Given the description of an element on the screen output the (x, y) to click on. 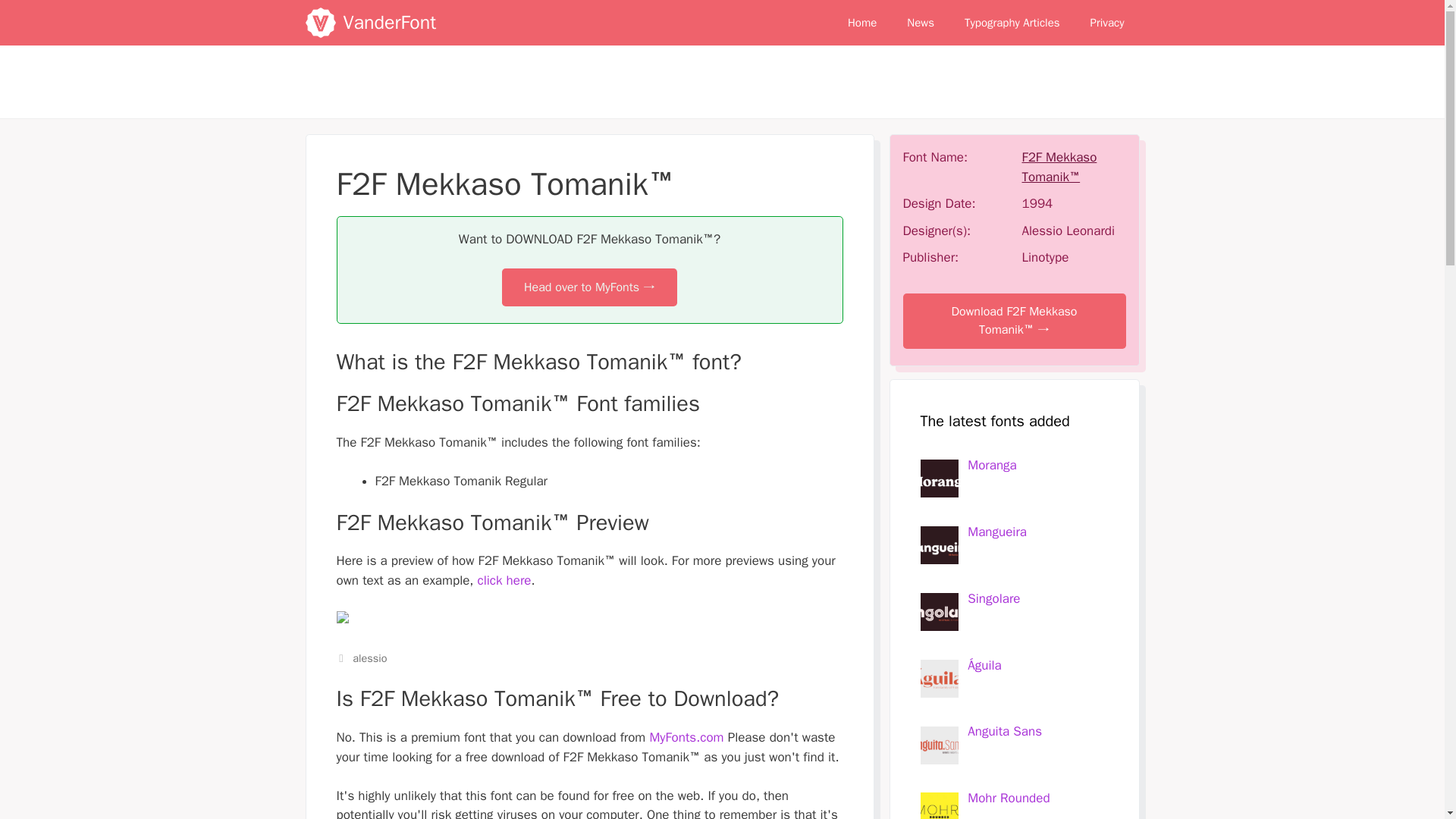
Singolare (994, 598)
Mangueira (997, 531)
VanderFont (319, 22)
Anguita Sans (1005, 731)
Home (861, 22)
News (920, 22)
VanderFont (323, 22)
Moranga (992, 465)
Privacy (1107, 22)
alessio (369, 658)
click here (504, 580)
MyFonts.com (686, 737)
Typography Articles (1012, 22)
VanderFont (388, 22)
